Given the description of an element on the screen output the (x, y) to click on. 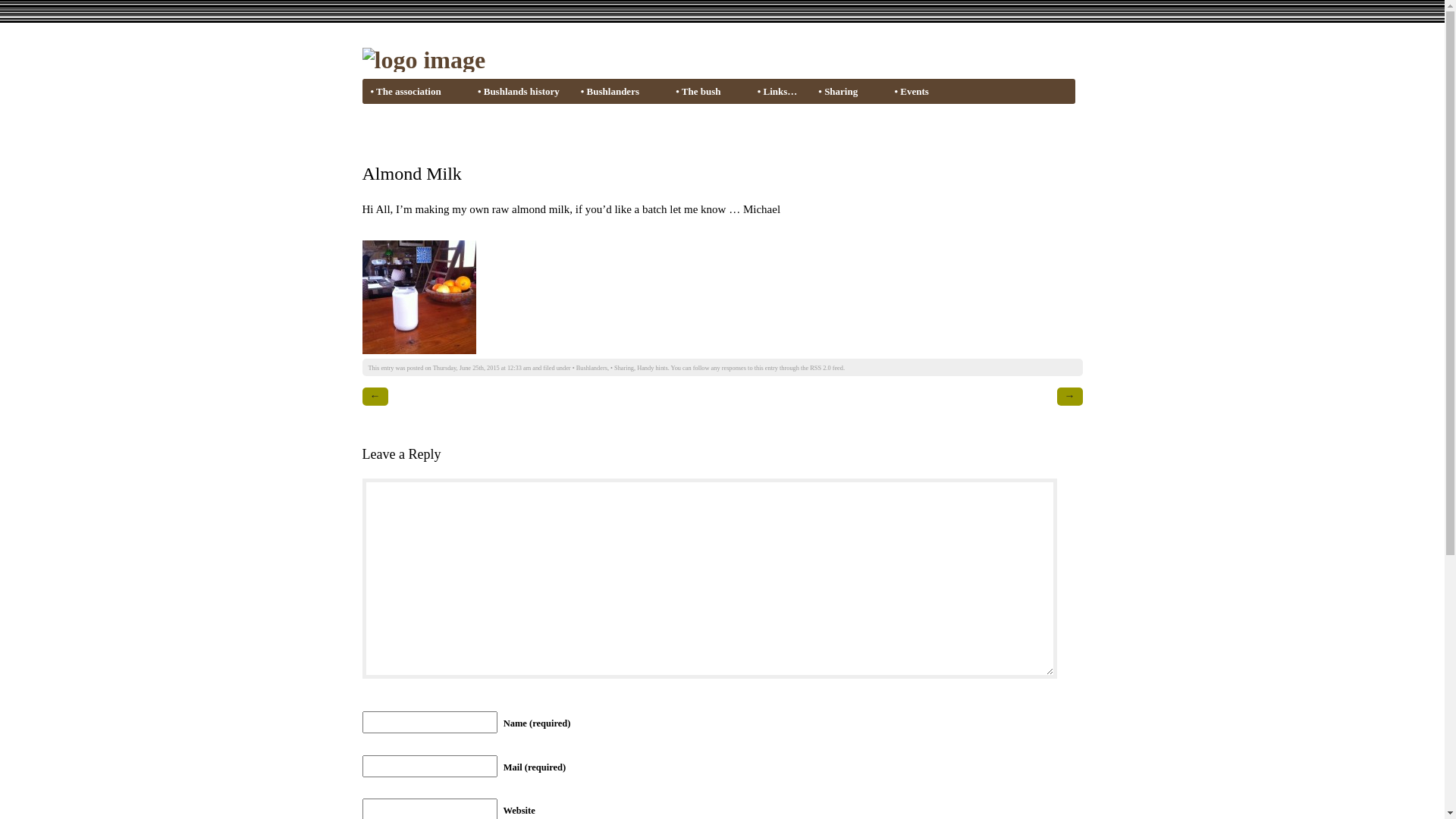
RSS 2.0 Element type: text (819, 367)
Handy hints Element type: text (652, 367)
Return to the frontpage Element type: hover (424, 59)
